Given the description of an element on the screen output the (x, y) to click on. 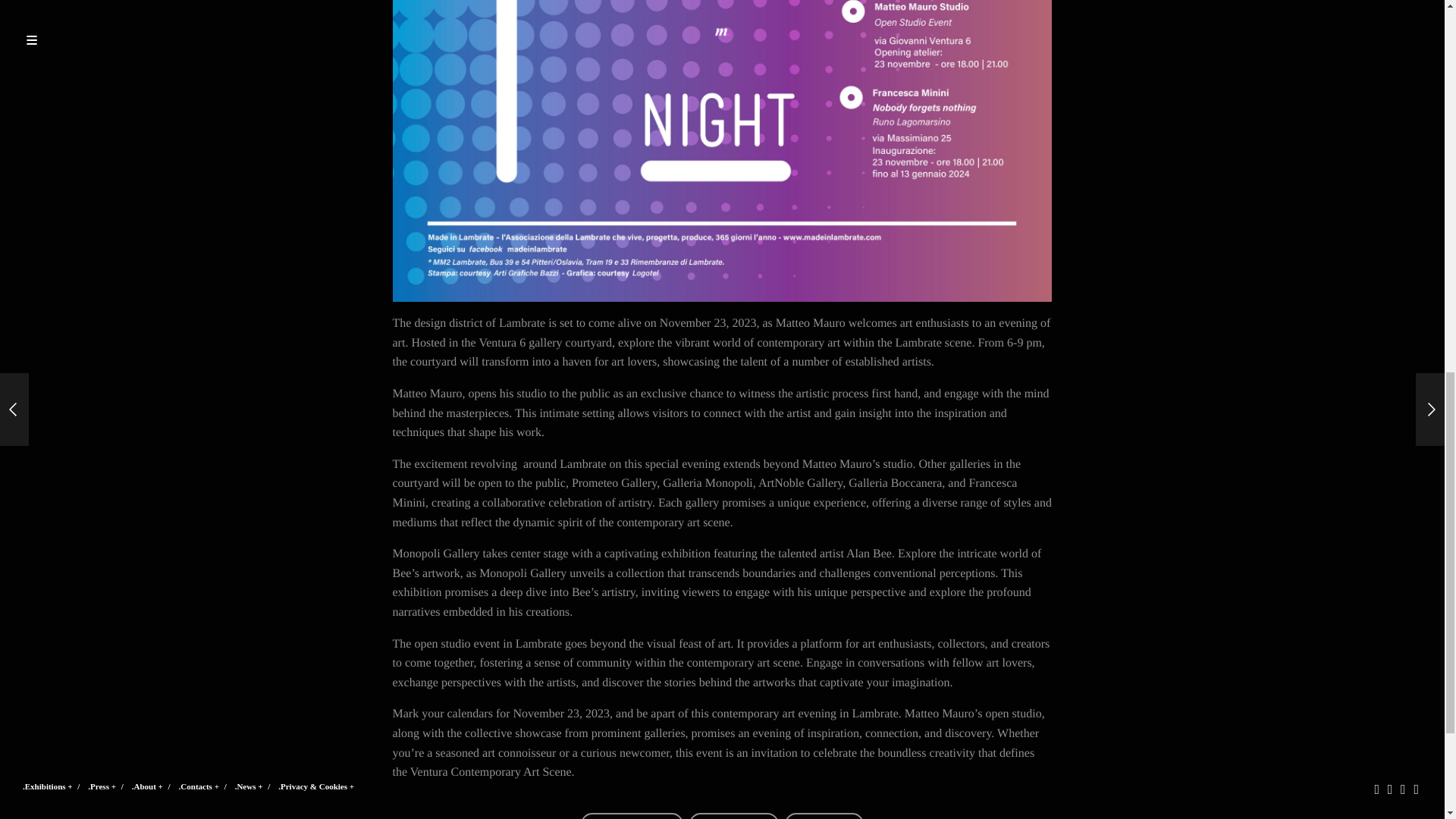
OPEN STUDIO (733, 816)
MATTEO MAURO (631, 816)
VENTURA 6 (823, 816)
